Given the description of an element on the screen output the (x, y) to click on. 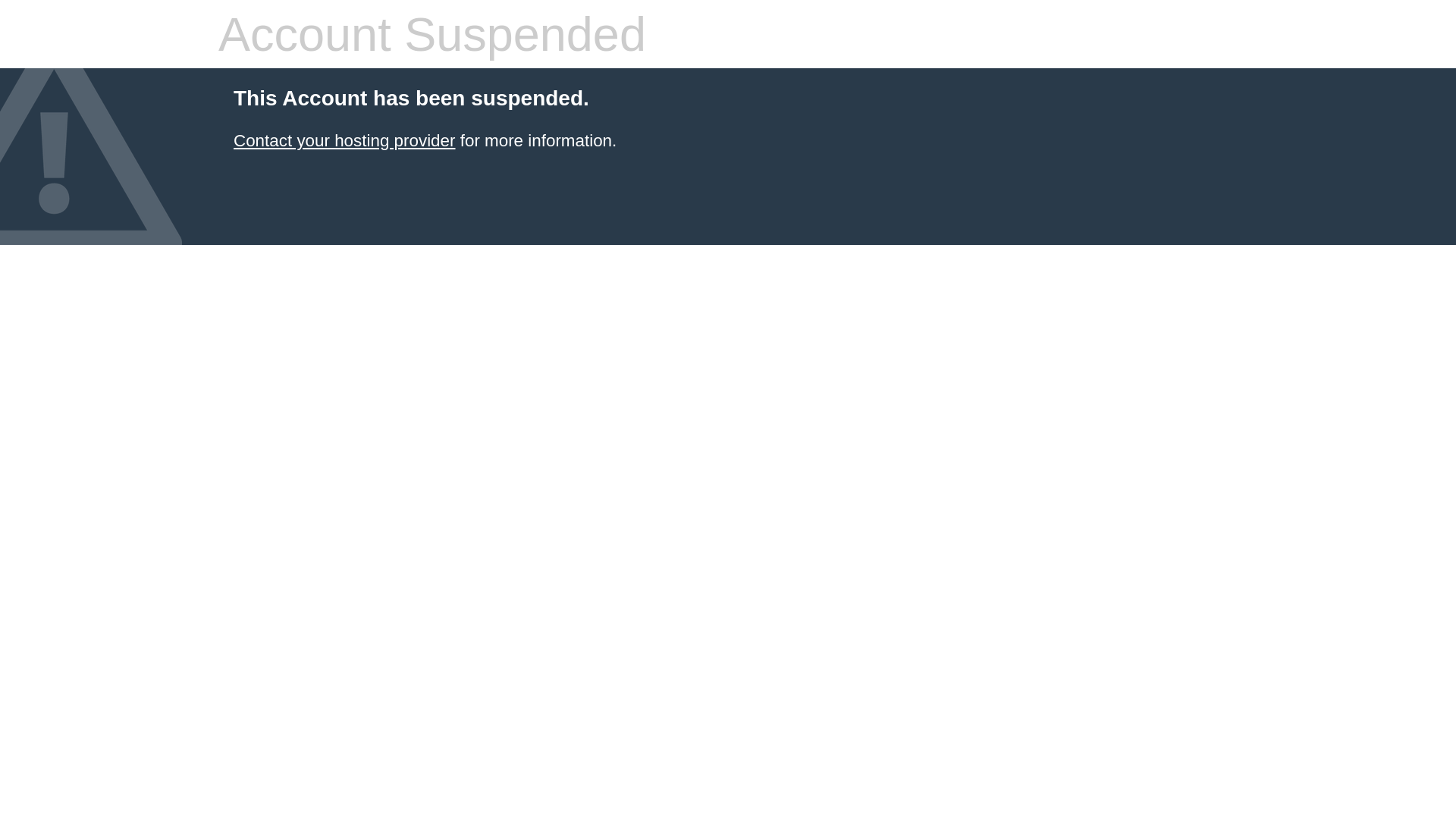
Contact your hosting provider Element type: text (344, 140)
